Given the description of an element on the screen output the (x, y) to click on. 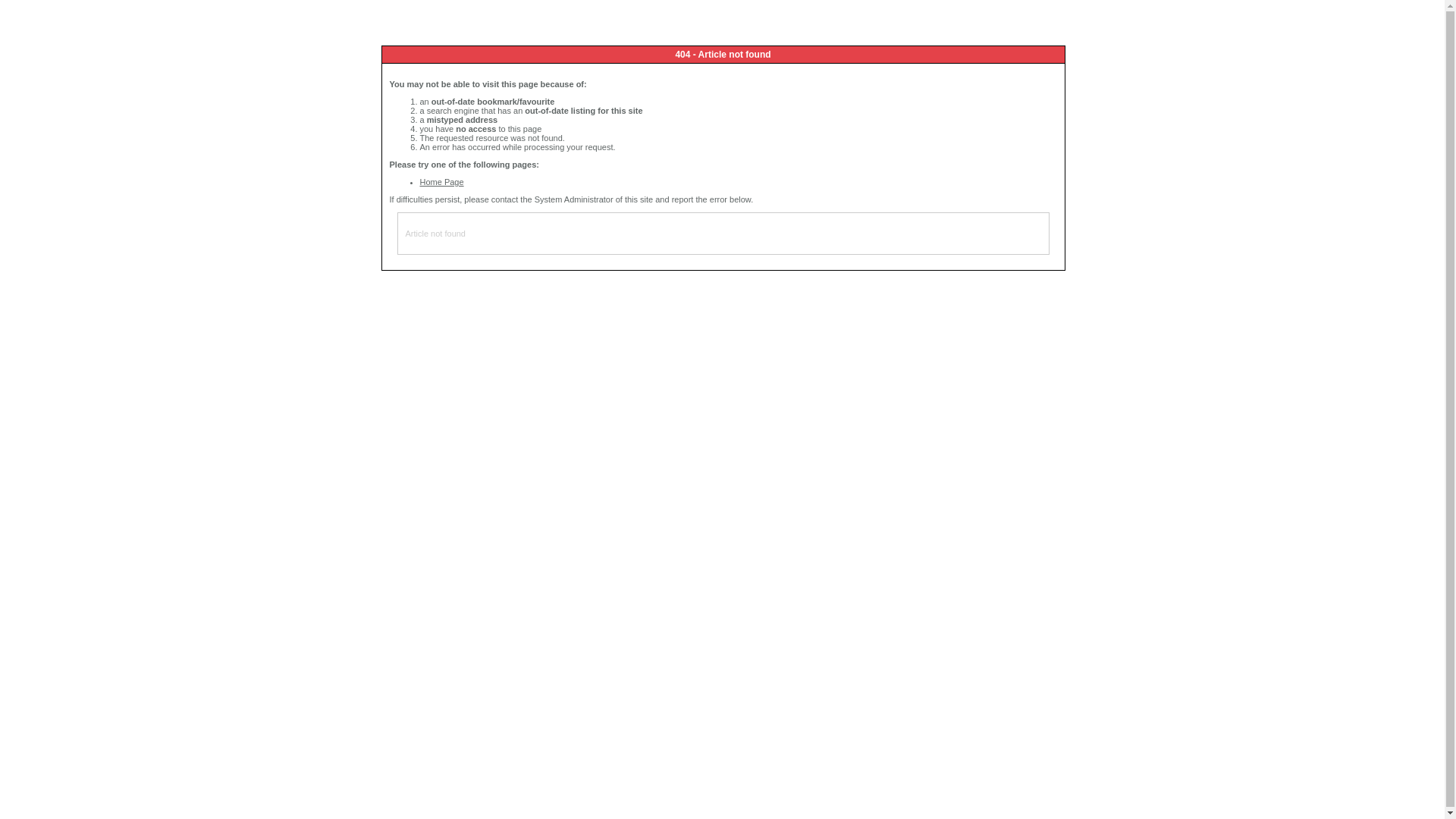
Home Page Element type: text (442, 181)
